Given the description of an element on the screen output the (x, y) to click on. 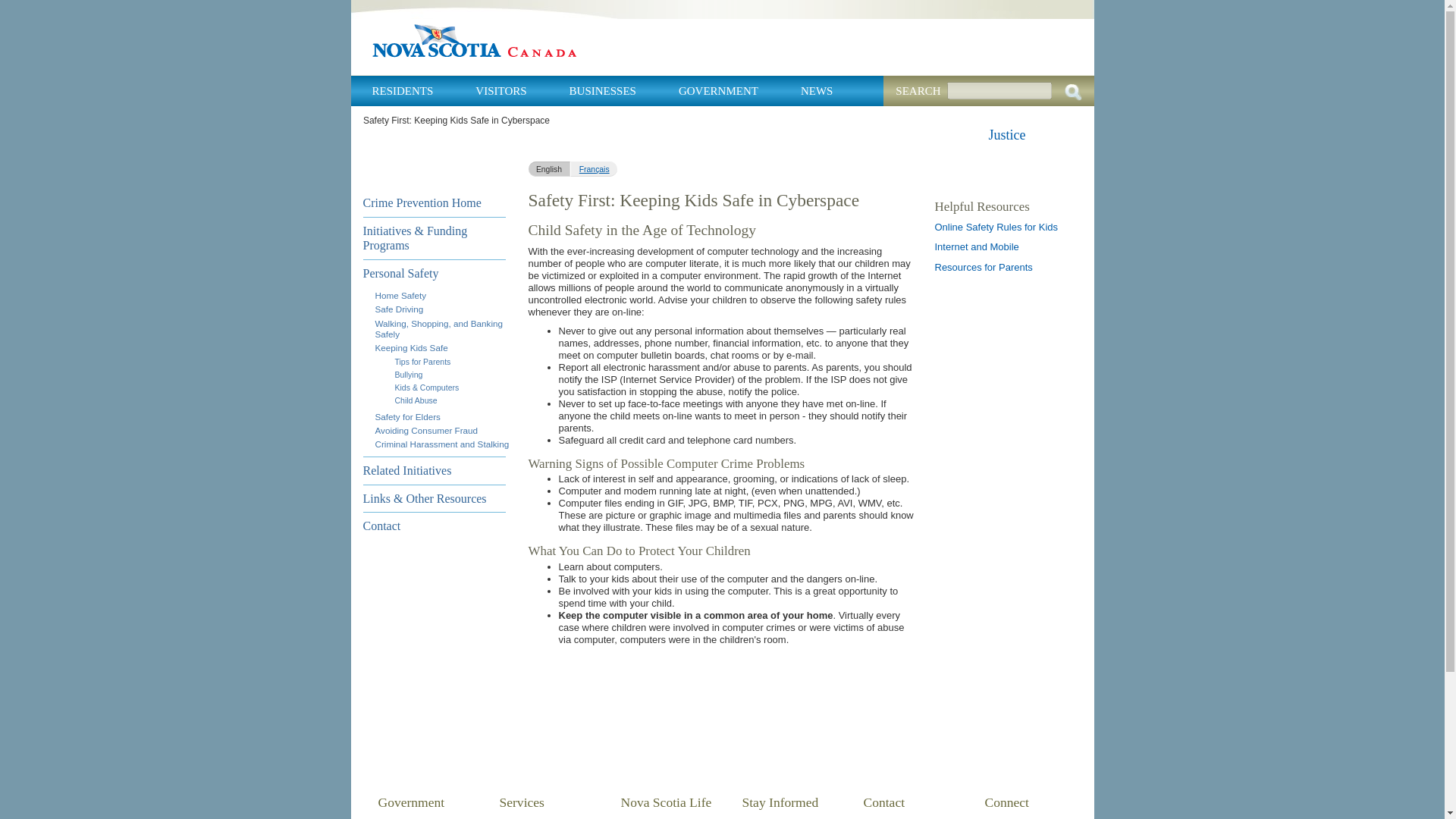
Safe Driving (398, 308)
Contact (433, 525)
NEWS (816, 91)
Bullying (408, 374)
Online Safety Rules for Kids (996, 226)
Internet and Mobile (975, 246)
VISITORS (500, 91)
Resources for Parents (983, 266)
Crime Prevention Home (433, 203)
Keeping Kids Safe (410, 347)
